Given the description of an element on the screen output the (x, y) to click on. 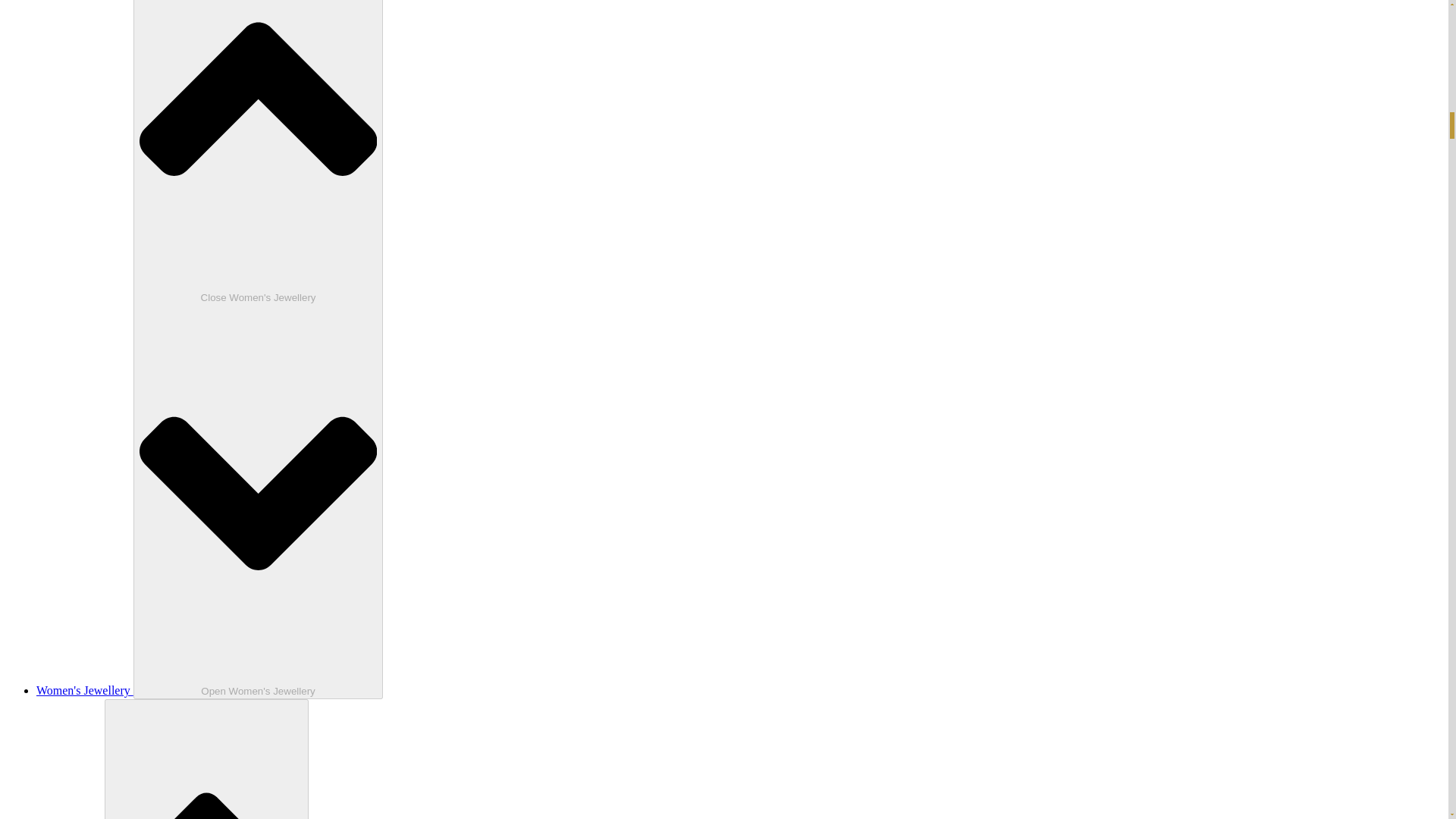
Close Georg Jensen Open Georg Jensen (206, 759)
Women's Jewellery (84, 689)
